Given the description of an element on the screen output the (x, y) to click on. 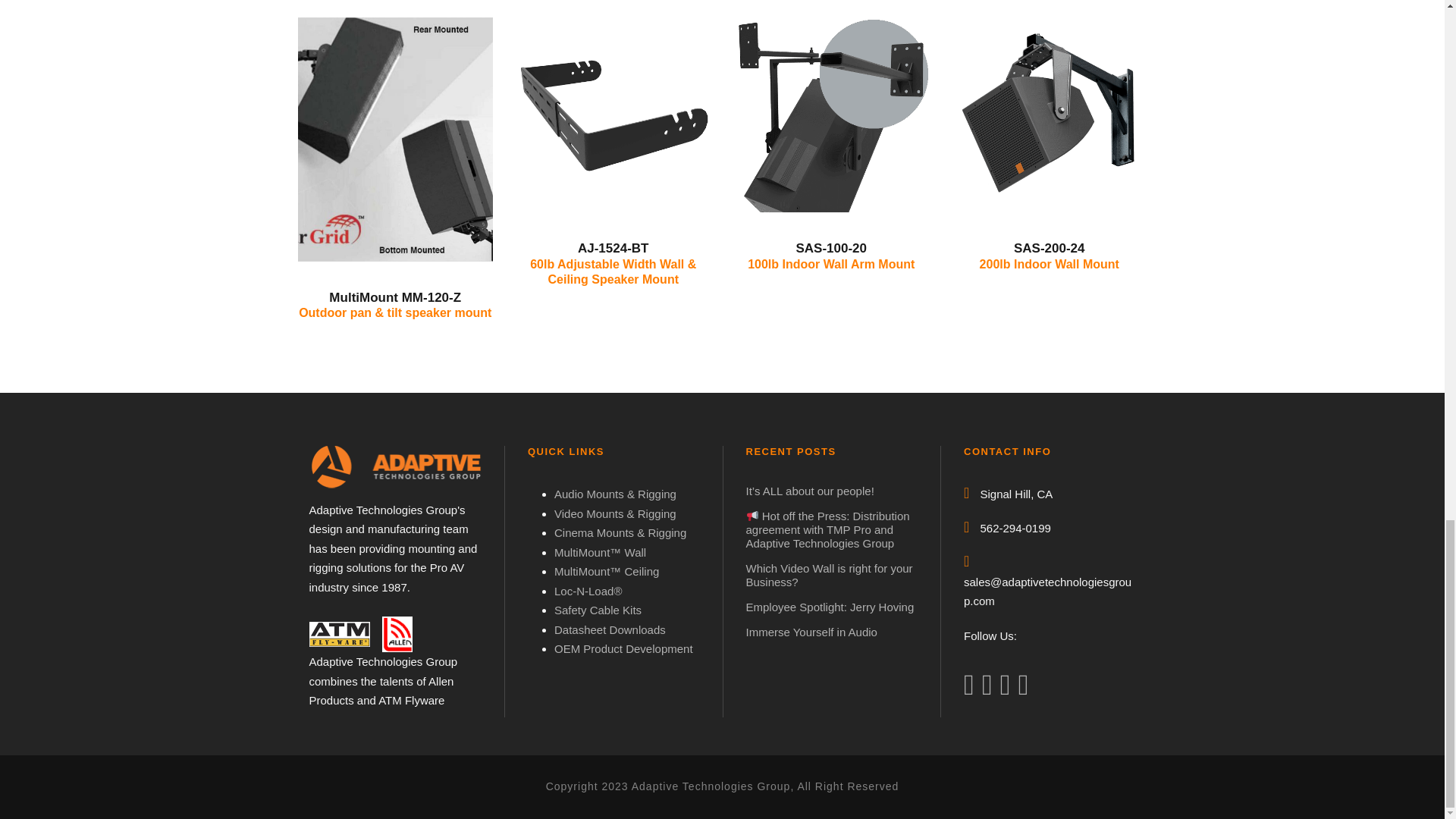
SAS-100-20replace (831, 114)
SAS-200-24 (1049, 114)
AdjustableWidthU-Brackets (613, 114)
